Given the description of an element on the screen output the (x, y) to click on. 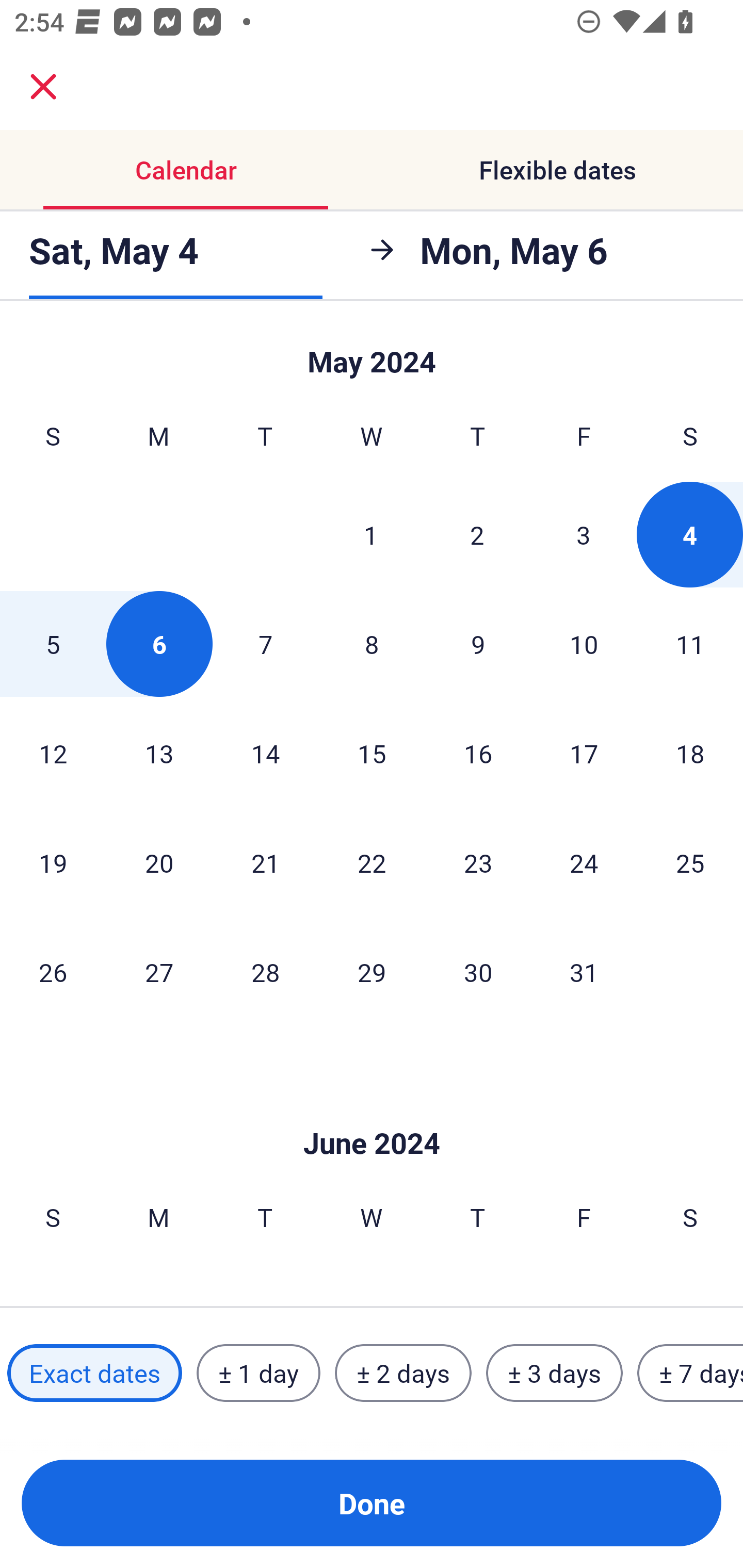
close. (43, 86)
Flexible dates (557, 170)
Skip to Done (371, 352)
1 Wednesday, May 1, 2024 (371, 534)
2 Thursday, May 2, 2024 (477, 534)
3 Friday, May 3, 2024 (583, 534)
7 Tuesday, May 7, 2024 (265, 643)
8 Wednesday, May 8, 2024 (371, 643)
9 Thursday, May 9, 2024 (477, 643)
10 Friday, May 10, 2024 (584, 643)
11 Saturday, May 11, 2024 (690, 643)
12 Sunday, May 12, 2024 (53, 752)
13 Monday, May 13, 2024 (159, 752)
14 Tuesday, May 14, 2024 (265, 752)
15 Wednesday, May 15, 2024 (371, 752)
16 Thursday, May 16, 2024 (477, 752)
17 Friday, May 17, 2024 (584, 752)
18 Saturday, May 18, 2024 (690, 752)
19 Sunday, May 19, 2024 (53, 862)
20 Monday, May 20, 2024 (159, 862)
21 Tuesday, May 21, 2024 (265, 862)
22 Wednesday, May 22, 2024 (371, 862)
23 Thursday, May 23, 2024 (477, 862)
24 Friday, May 24, 2024 (584, 862)
25 Saturday, May 25, 2024 (690, 862)
26 Sunday, May 26, 2024 (53, 971)
27 Monday, May 27, 2024 (159, 971)
28 Tuesday, May 28, 2024 (265, 971)
29 Wednesday, May 29, 2024 (371, 971)
30 Thursday, May 30, 2024 (477, 971)
31 Friday, May 31, 2024 (584, 971)
Skip to Done (371, 1112)
Exact dates (94, 1372)
± 1 day (258, 1372)
± 2 days (403, 1372)
± 3 days (553, 1372)
± 7 days (690, 1372)
Done (371, 1502)
